Given the description of an element on the screen output the (x, y) to click on. 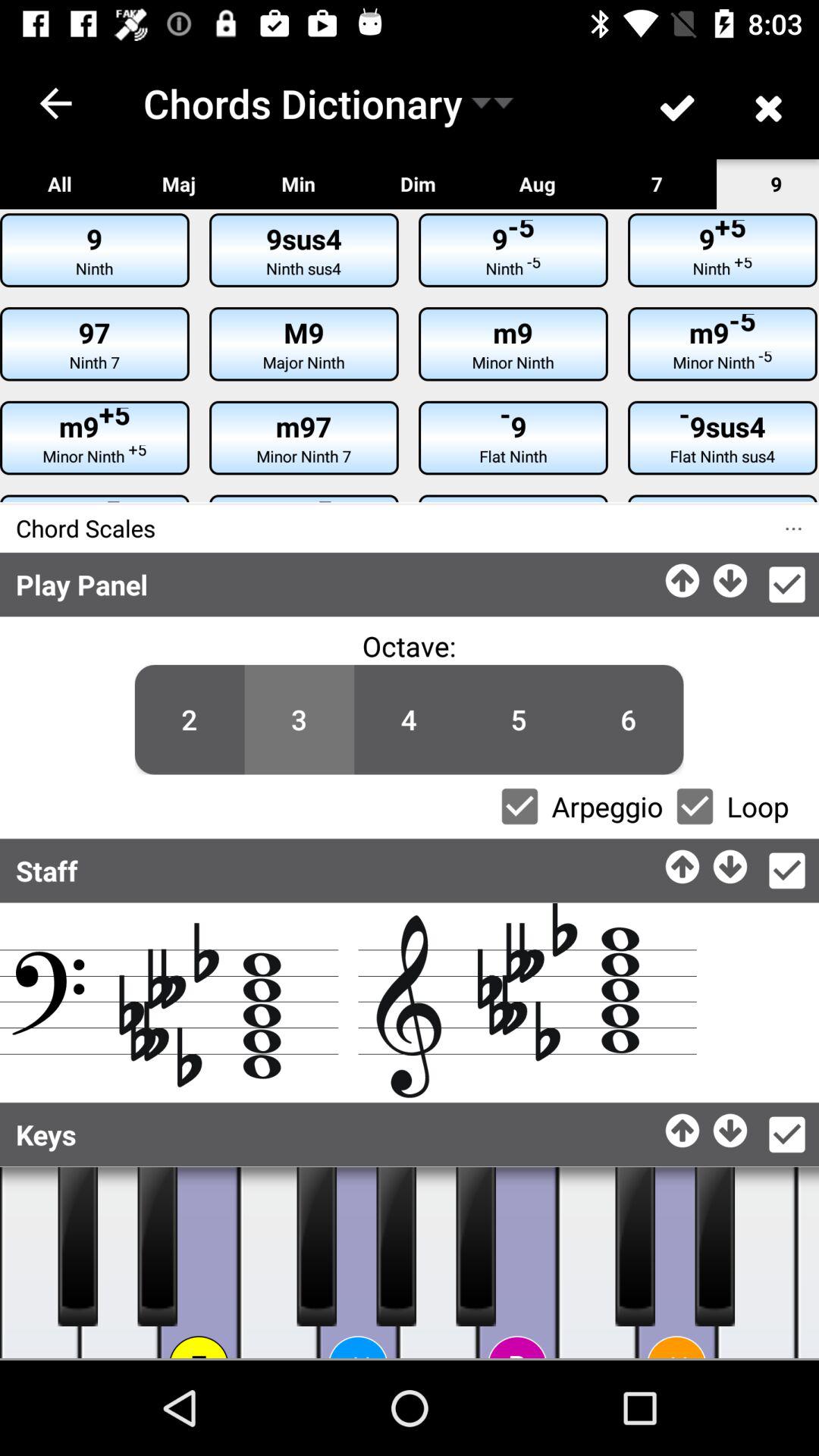
keyboard (358, 1262)
